Given the description of an element on the screen output the (x, y) to click on. 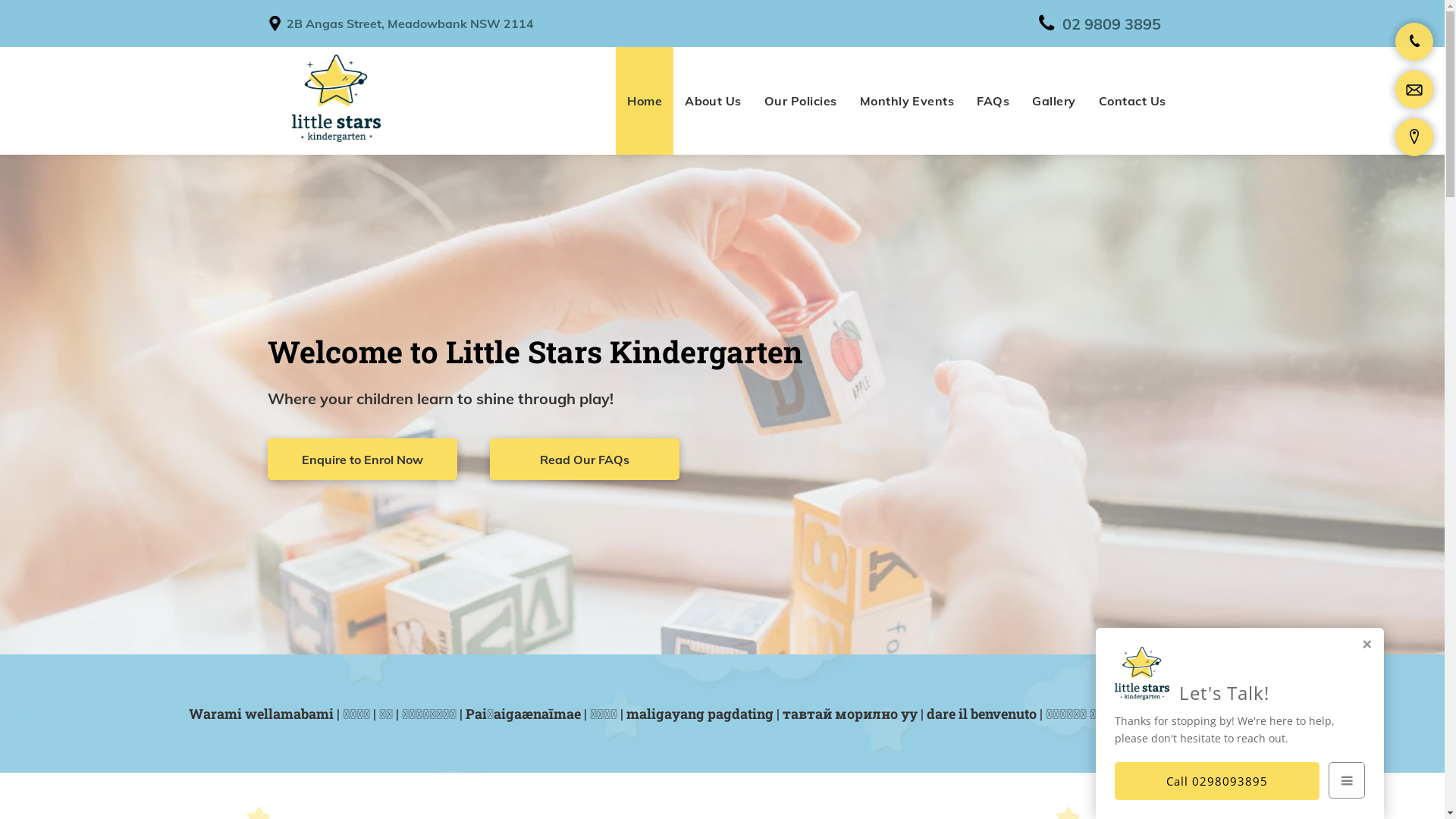
Read Our FAQs Element type: text (584, 459)
Gallery Element type: text (1053, 100)
Little Stars Kindergarten Element type: hover (335, 97)
Our Policies Element type: text (800, 100)
Home Element type: text (644, 100)
Enquire to Enrol Now Element type: text (361, 459)
Call 0298093895 Element type: text (1216, 781)
Monthly Events Element type: text (907, 100)
2B Angas Street, Meadowbank NSW 2114 Element type: text (409, 23)
About Us Element type: text (713, 100)
02 9809 3895 Element type: text (1101, 23)
FAQs Element type: text (992, 100)
Contact Us Element type: text (1132, 100)
